Given the description of an element on the screen output the (x, y) to click on. 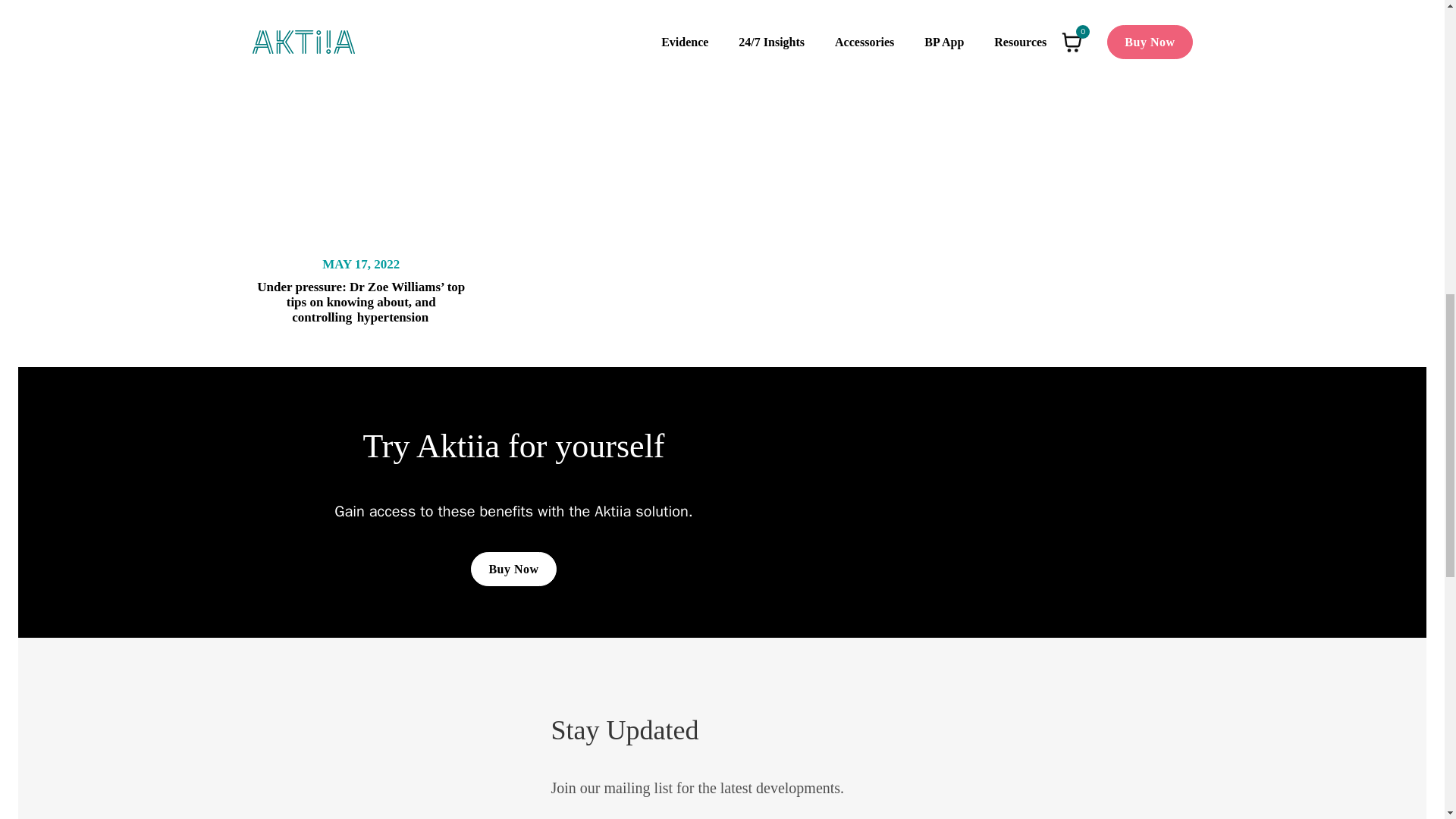
Buy Now (513, 569)
